Given the description of an element on the screen output the (x, y) to click on. 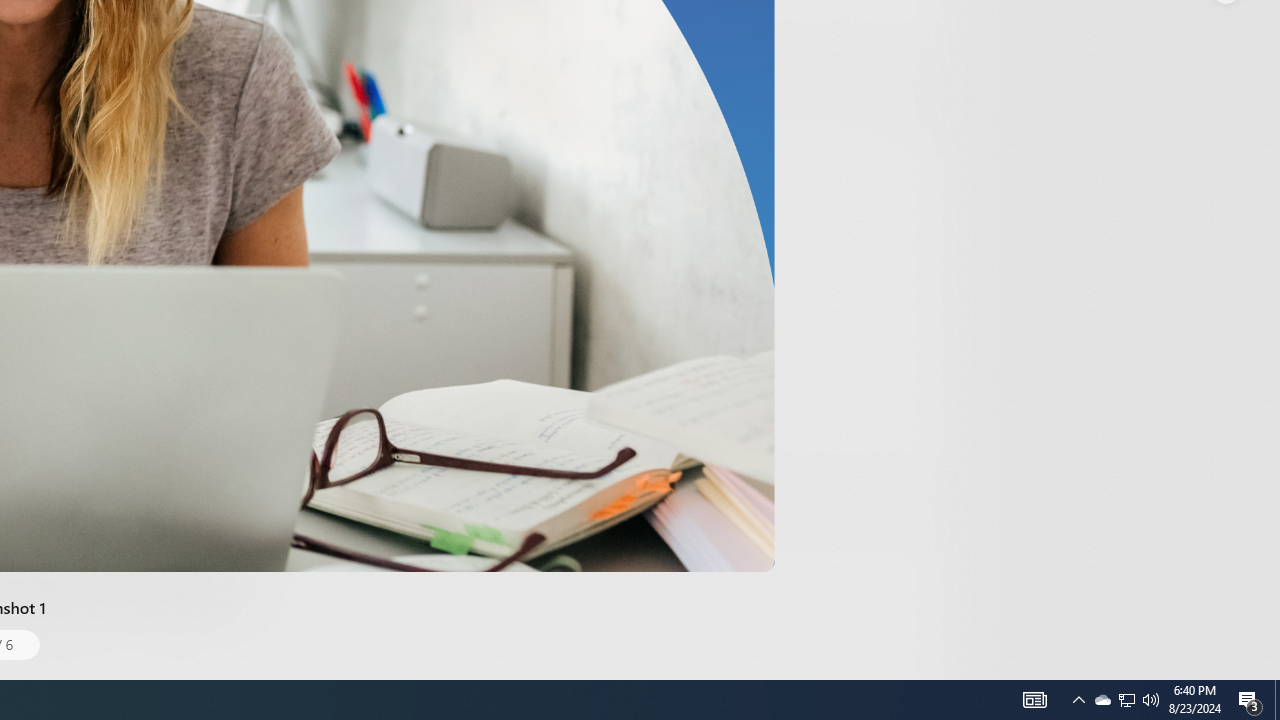
Show all ratings and reviews (924, 97)
